Given the description of an element on the screen output the (x, y) to click on. 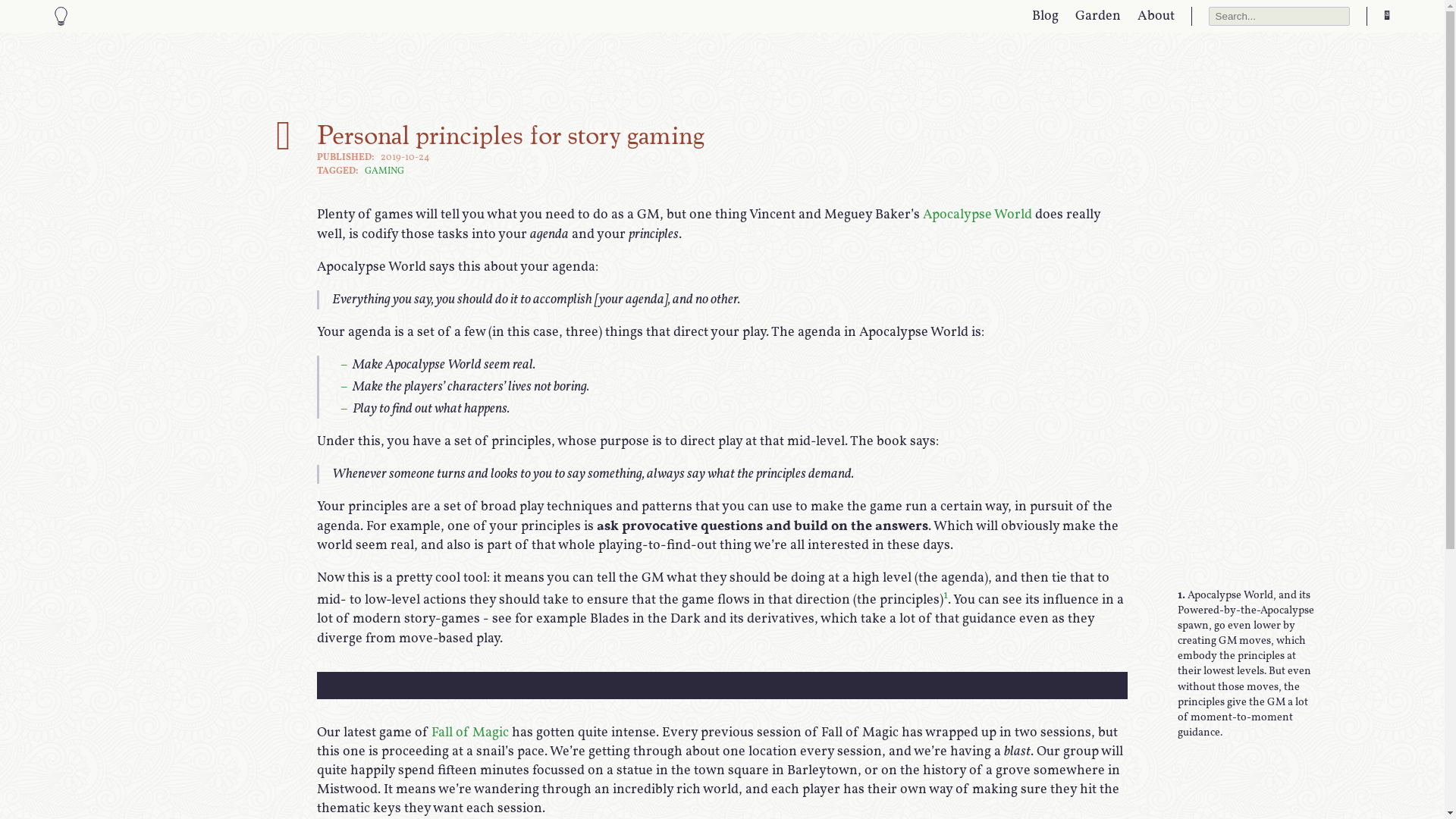
1 Element type: text (945, 595)
Blog Element type: text (1045, 15)
GAMING Element type: text (384, 171)
Garden Element type: text (1097, 15)
Apocalypse World Element type: text (977, 214)
About Element type: text (1155, 15)
Fall of Magic Element type: text (469, 732)
